Given the description of an element on the screen output the (x, y) to click on. 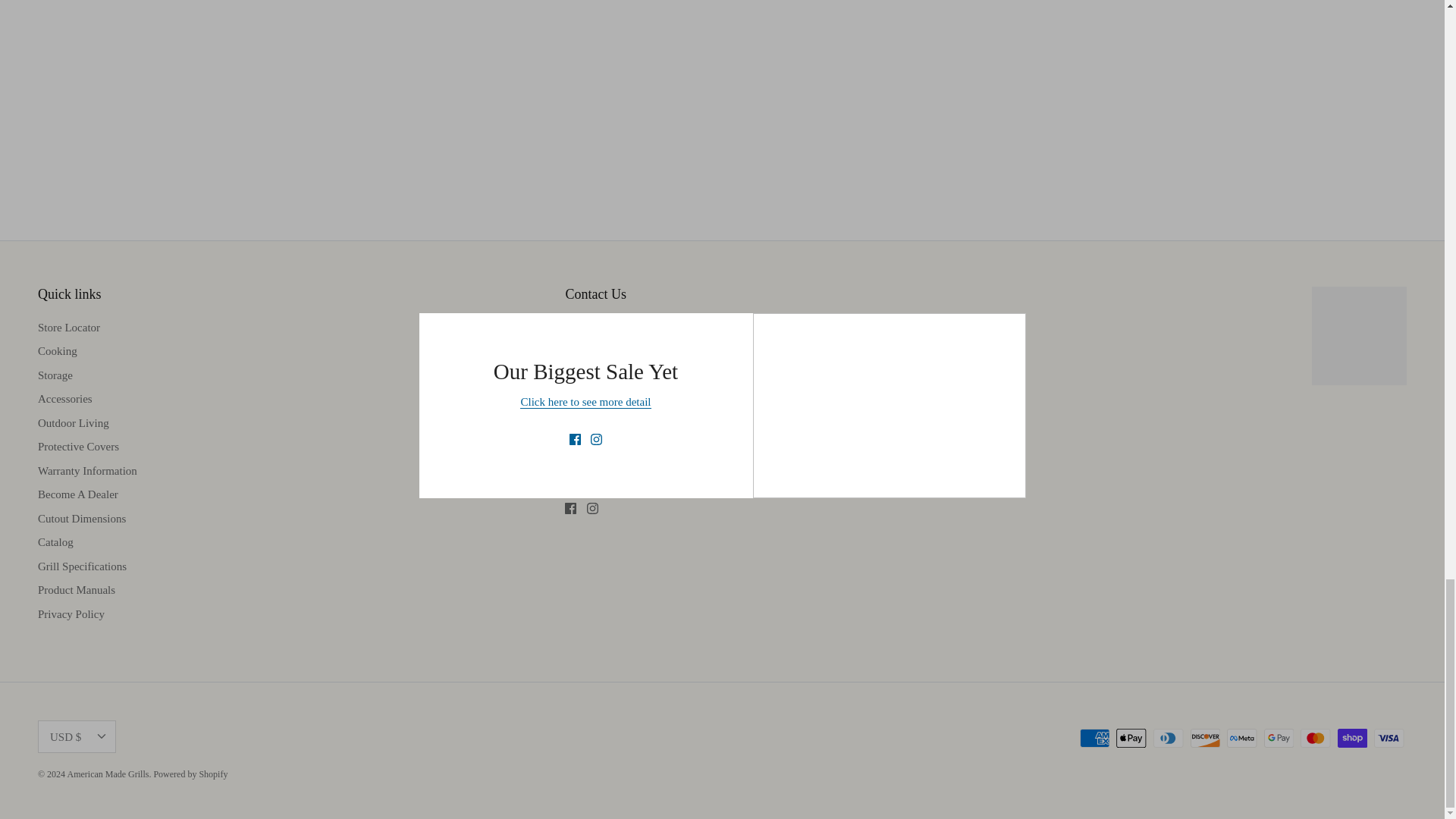
Diners Club (1168, 737)
Shop Pay (1352, 737)
Mastercard (1315, 737)
Google Pay (1278, 737)
Contact (600, 357)
Apple Pay (1130, 737)
Visa (1388, 737)
Instagram (592, 508)
Down (100, 735)
Meta Pay (1241, 737)
Discover (1205, 737)
American Express (1094, 737)
Facebook (570, 508)
